Given the description of an element on the screen output the (x, y) to click on. 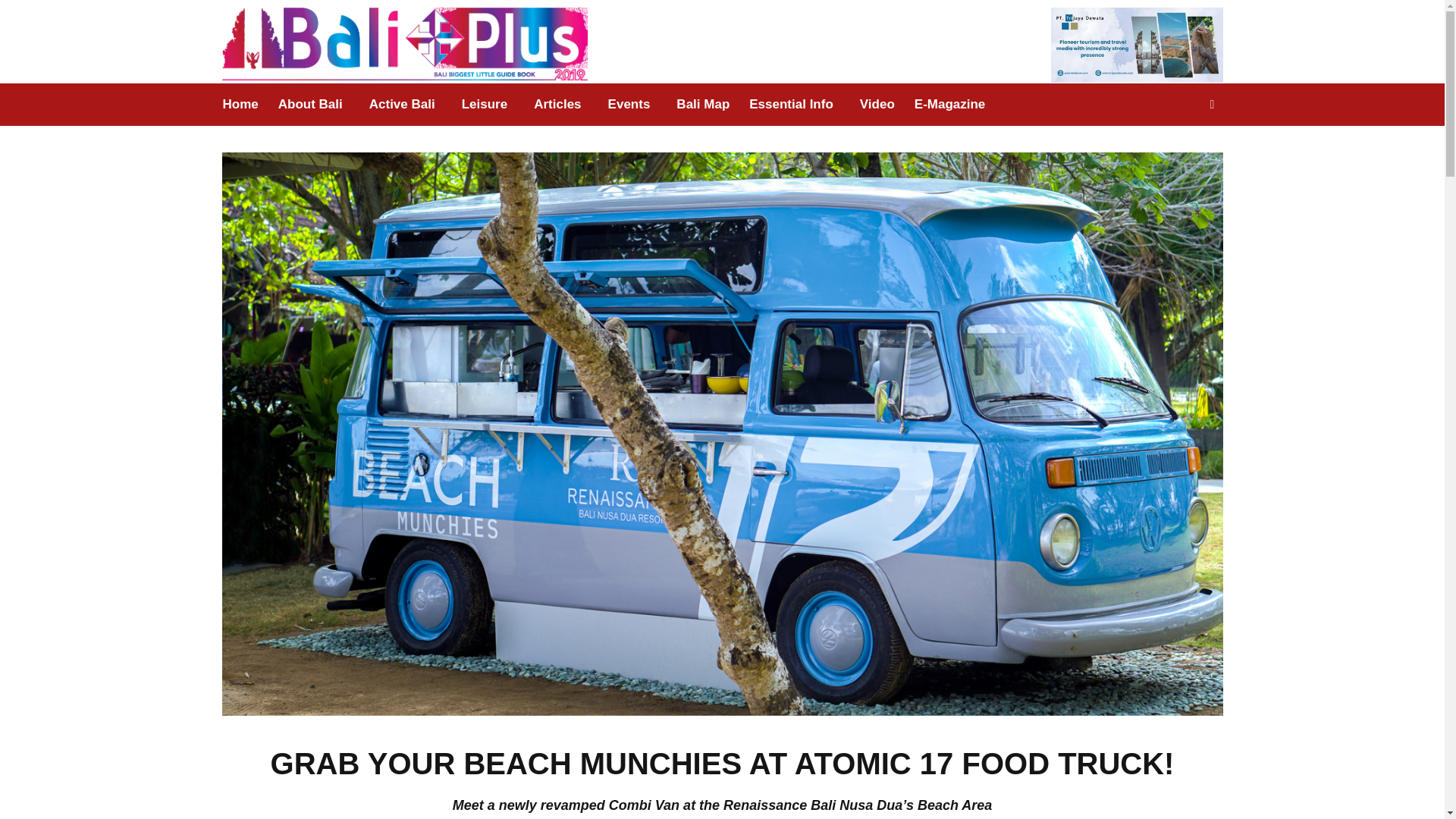
Active Bali (402, 104)
Bali Map (702, 104)
Home (244, 104)
Articles (557, 104)
Events (629, 104)
Leisure (483, 104)
Essential Info (791, 104)
About Bali (309, 104)
Page 1 (722, 807)
